Given the description of an element on the screen output the (x, y) to click on. 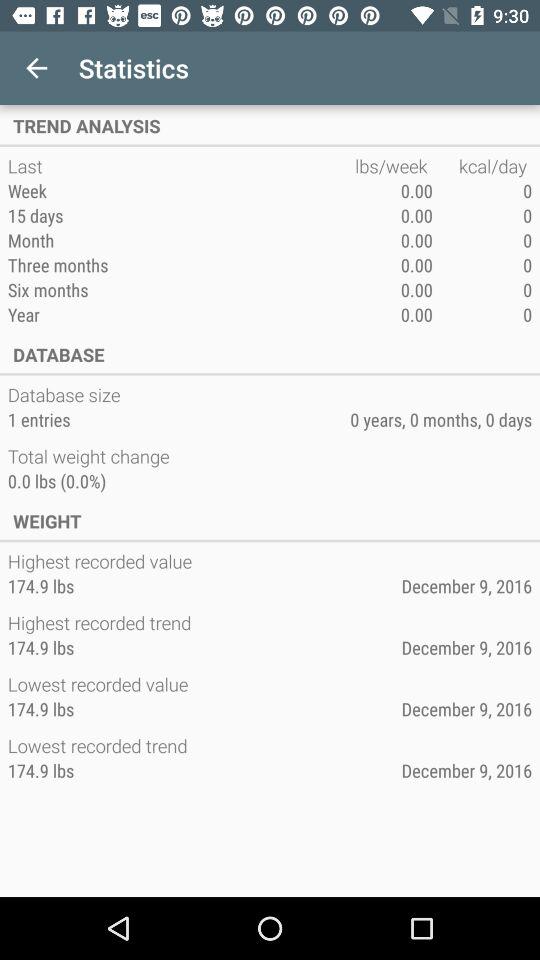
press the item above the total weight change (38, 419)
